Given the description of an element on the screen output the (x, y) to click on. 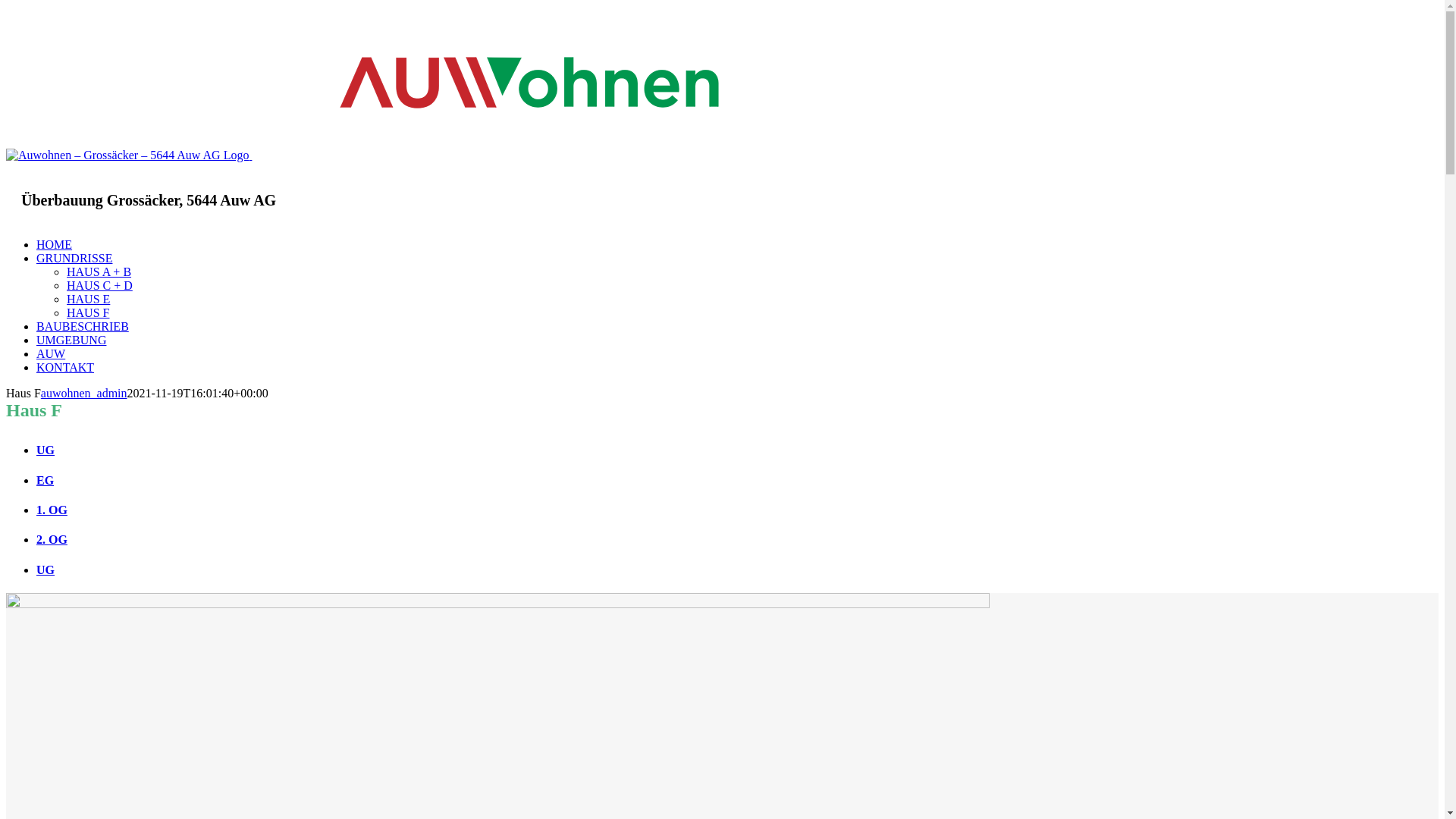
AUW Element type: text (50, 353)
1. OG Element type: text (737, 510)
HAUS C + D Element type: text (99, 285)
BAUBESCHRIEB Element type: text (82, 326)
EG Element type: text (737, 480)
auwohnen_admin Element type: text (83, 392)
2. OG Element type: text (737, 539)
KONTAKT Element type: text (65, 366)
UG Element type: text (737, 569)
HOME Element type: text (54, 244)
HAUS A + B Element type: text (98, 271)
UG Element type: text (737, 450)
HAUS F Element type: text (87, 312)
Zum Inhalt springen Element type: text (5, 5)
GRUNDRISSE Element type: text (74, 257)
UMGEBUNG Element type: text (71, 339)
HAUS E Element type: text (87, 298)
